Given the description of an element on the screen output the (x, y) to click on. 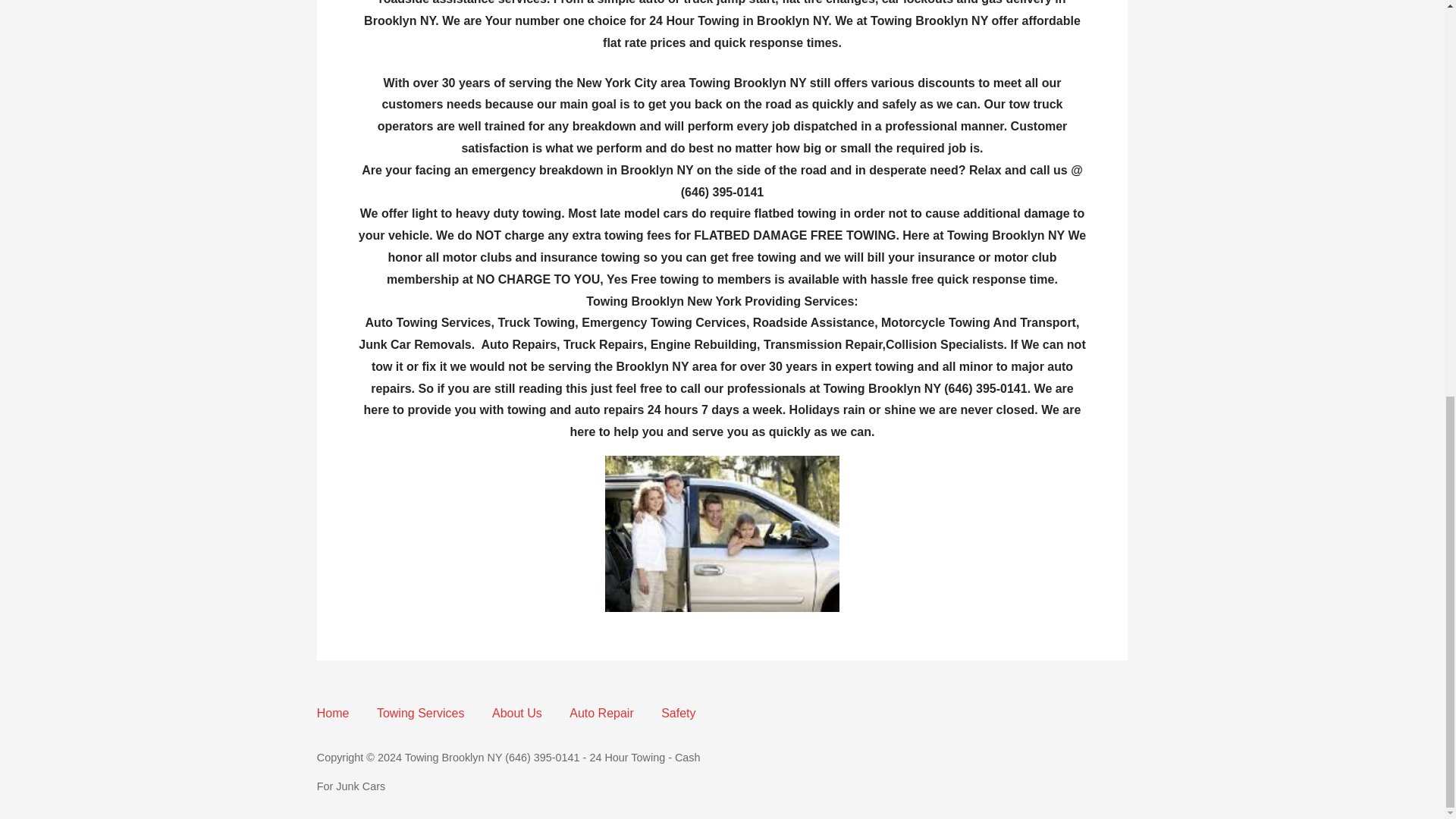
Safety (678, 712)
About Us (516, 712)
Towing Brooklyn NY Happy Family.jpg (722, 533)
Auto Repair (601, 712)
Home (333, 712)
Towing Services (420, 712)
